Given the description of an element on the screen output the (x, y) to click on. 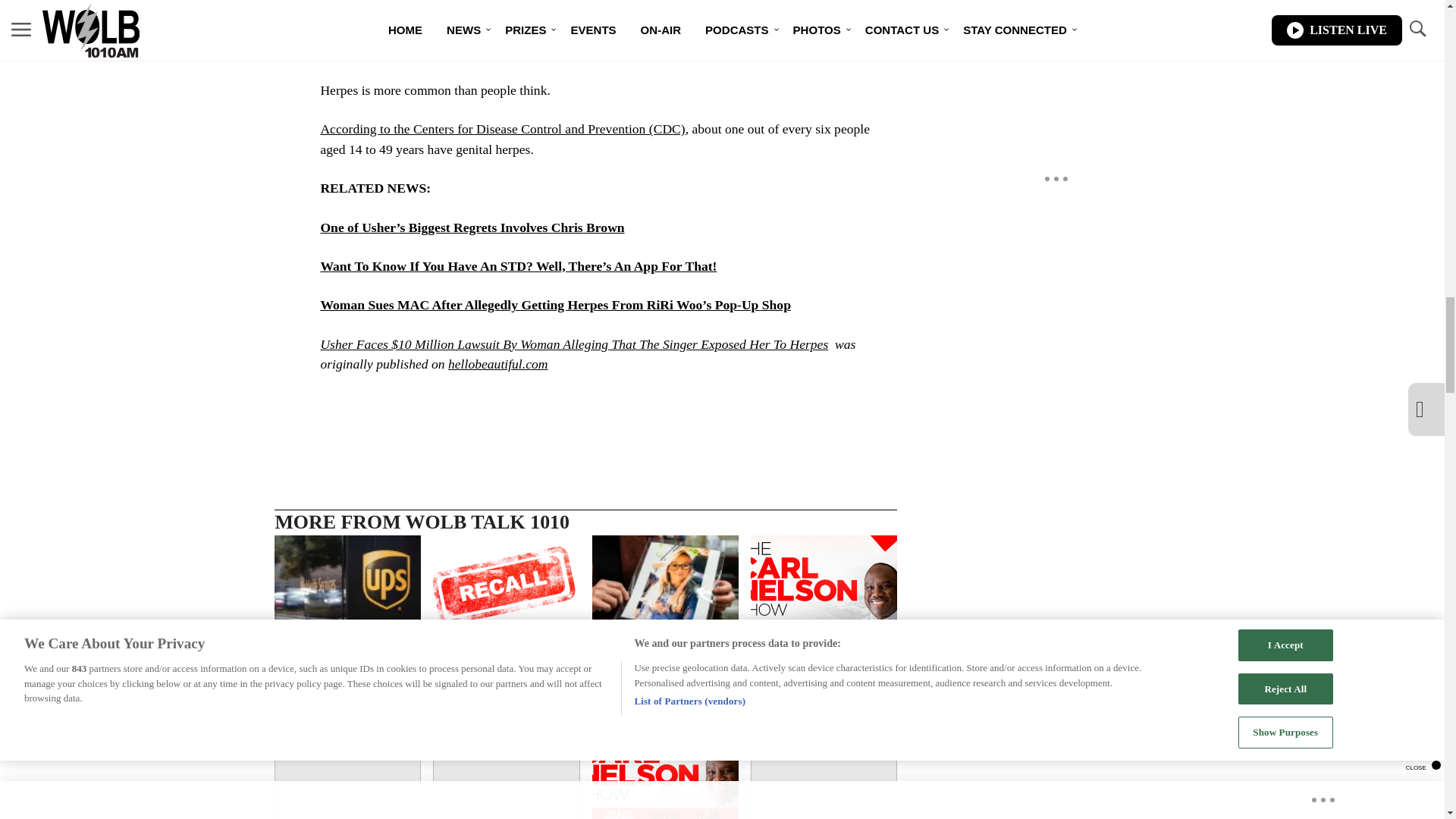
Vuukle Sharebar Widget (585, 409)
